Given the description of an element on the screen output the (x, y) to click on. 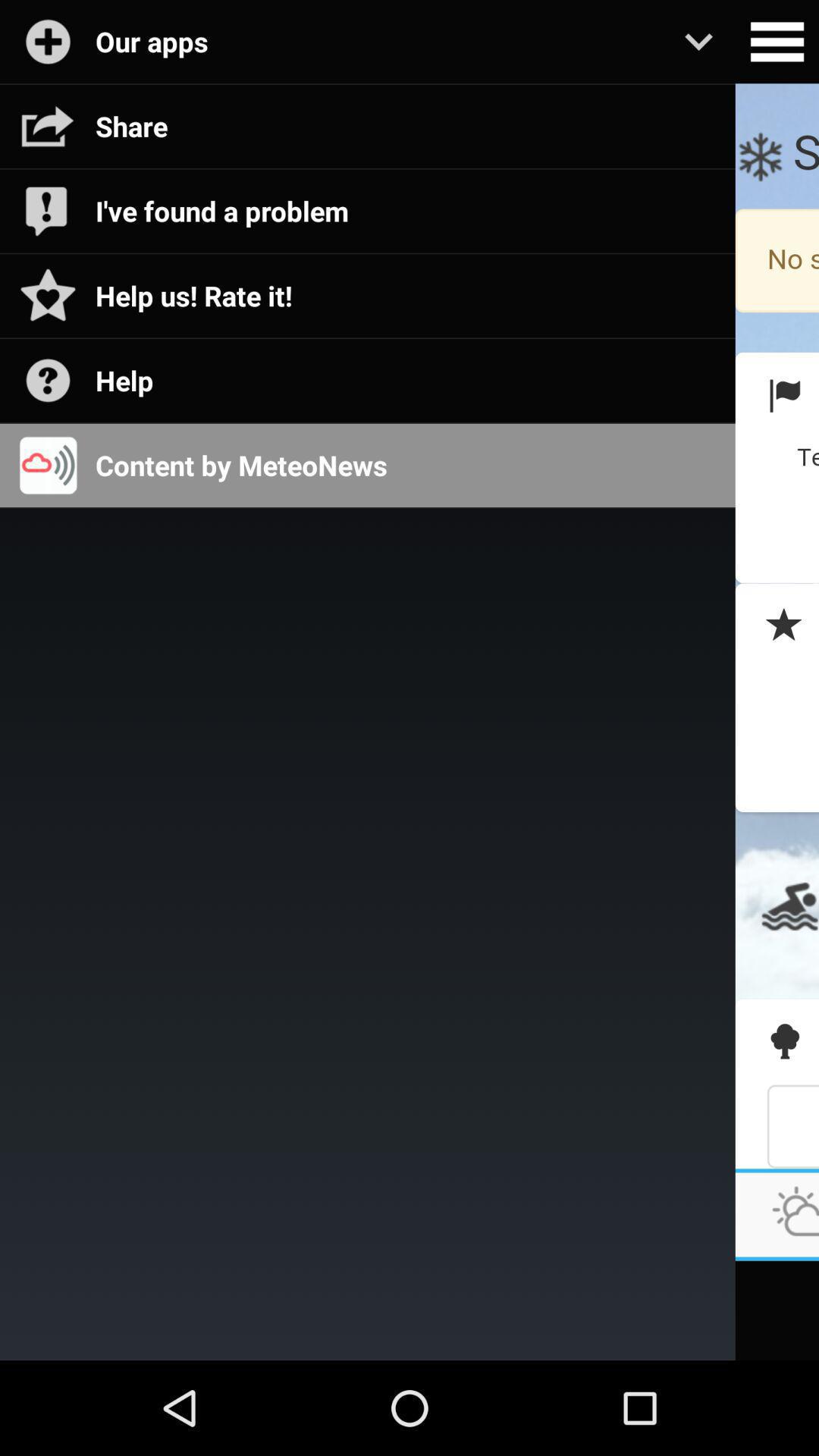
open settings (777, 41)
